Given the description of an element on the screen output the (x, y) to click on. 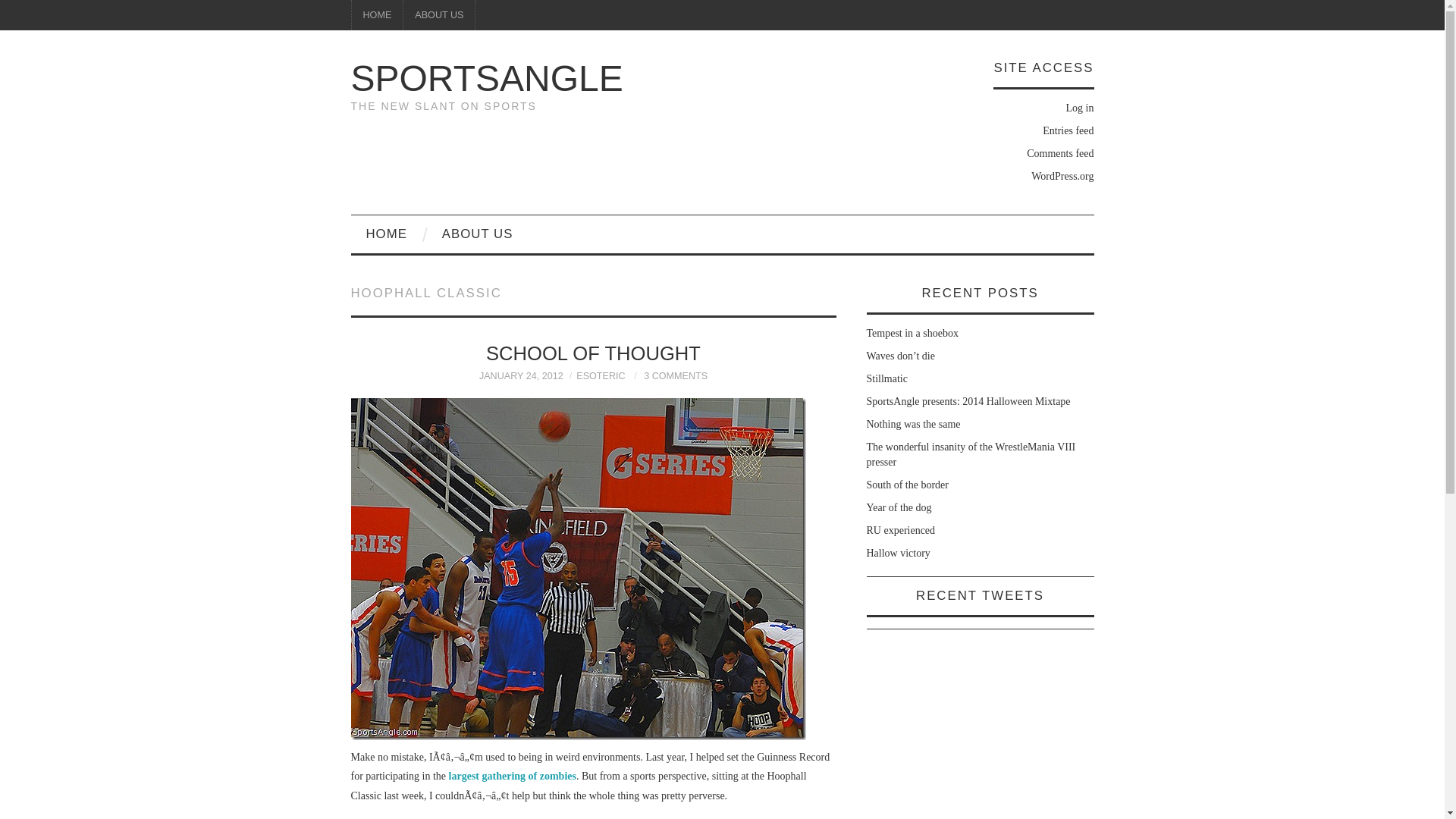
ABOUT US (476, 234)
Tempest in a shoebox (912, 333)
ABOUT US (438, 15)
JANUARY 24, 2012 (521, 376)
largest gathering of zombies (512, 776)
3 COMMENTS (675, 376)
ESOTERIC (600, 376)
WordPress.org (1061, 175)
SportsAngle (486, 78)
